Given the description of an element on the screen output the (x, y) to click on. 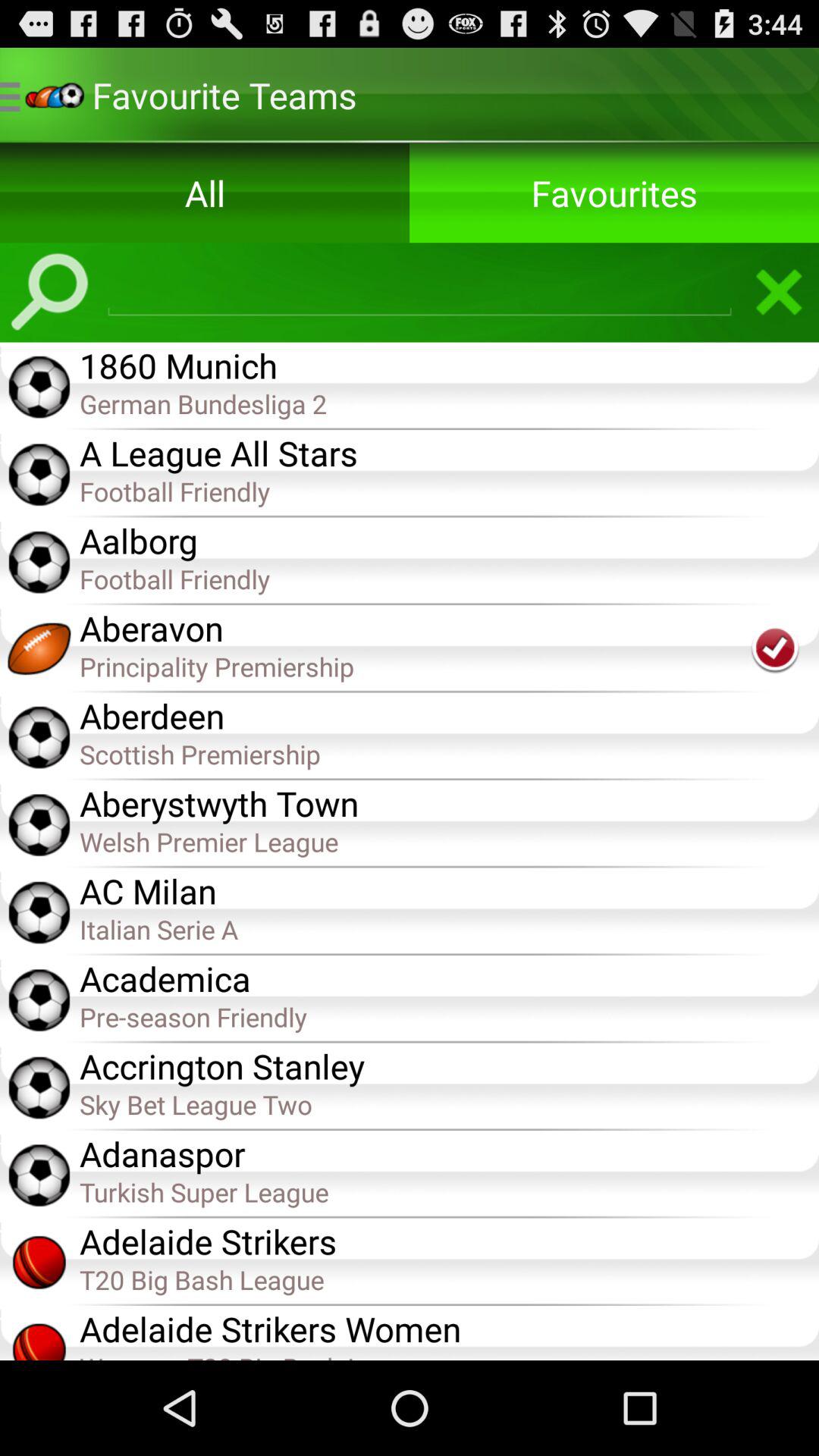
turn off the pre-season friendly (449, 1016)
